Given the description of an element on the screen output the (x, y) to click on. 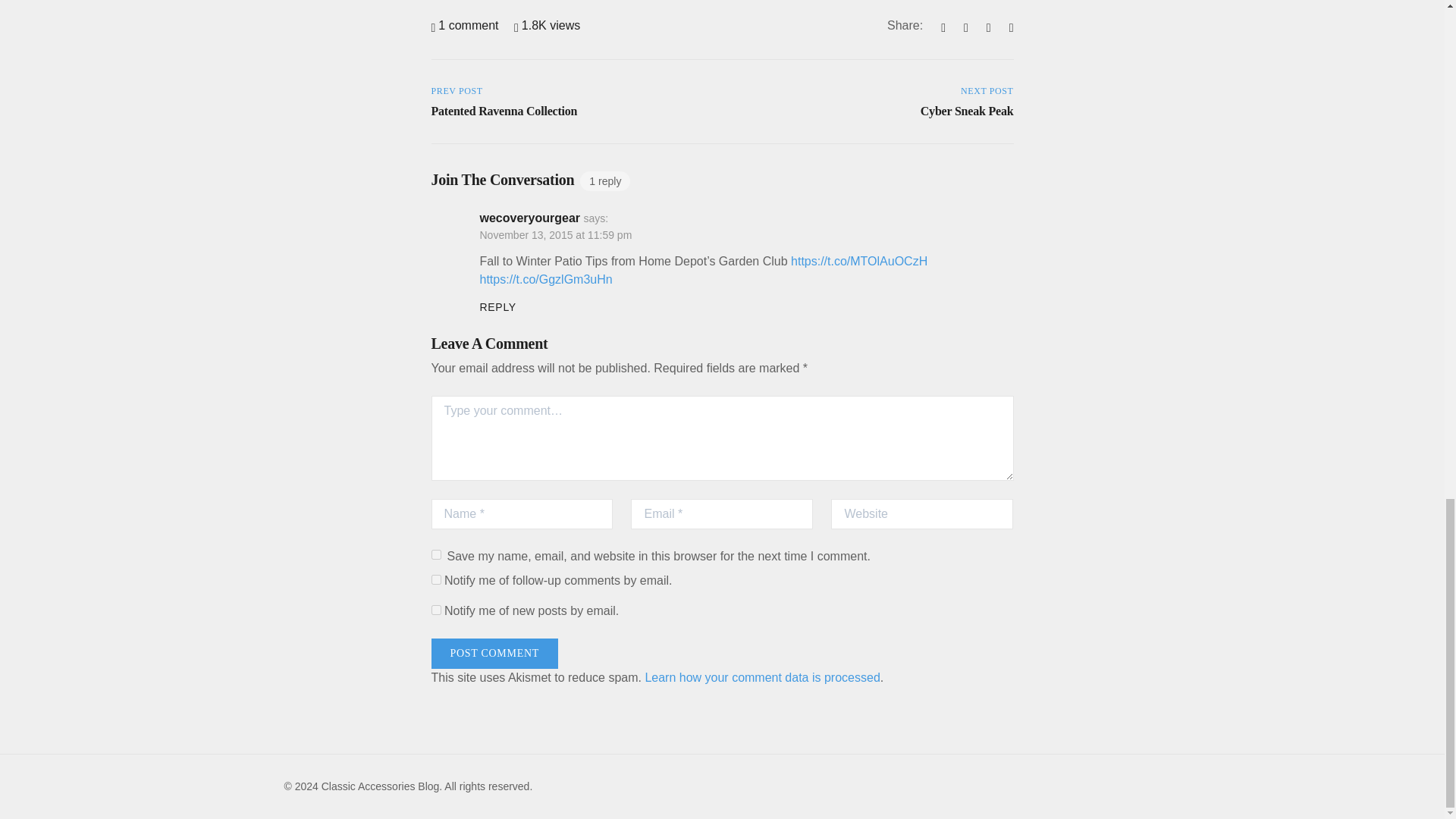
subscribe (435, 579)
subscribe (435, 610)
Post Comment (493, 653)
yes (435, 554)
